Given the description of an element on the screen output the (x, y) to click on. 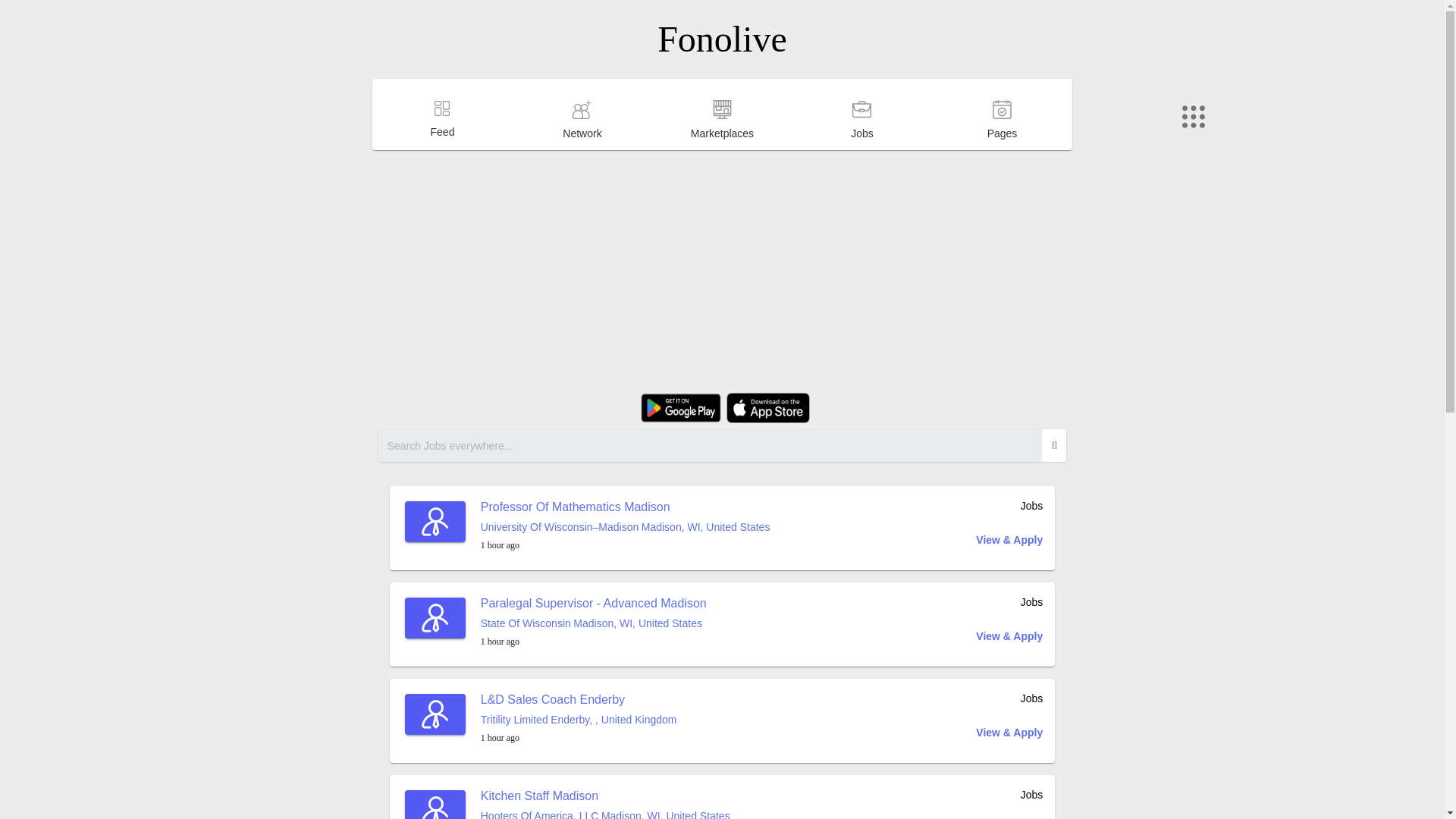
Madison, WI, United States (637, 623)
Pages (1002, 148)
Madison, WI, United States (665, 814)
Professor Of Mathematics Madison (574, 506)
State Of Wisconsin (525, 623)
Network (582, 148)
Kitchen Staff Madison (539, 795)
Jobs (861, 148)
Madison, WI, United States (706, 526)
Enderby, , United Kingdom (613, 719)
